Given the description of an element on the screen output the (x, y) to click on. 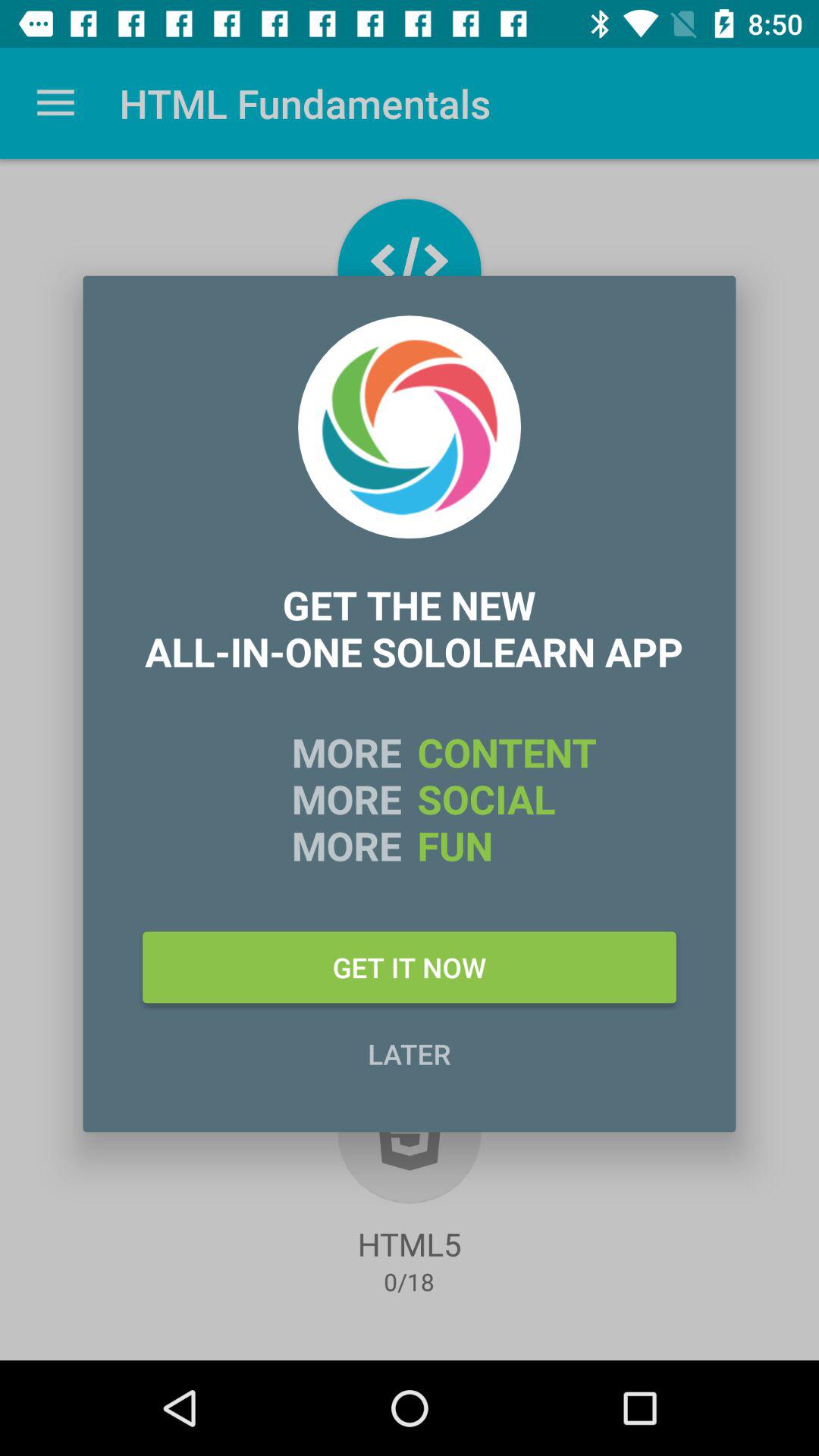
flip until get it now item (409, 967)
